Given the description of an element on the screen output the (x, y) to click on. 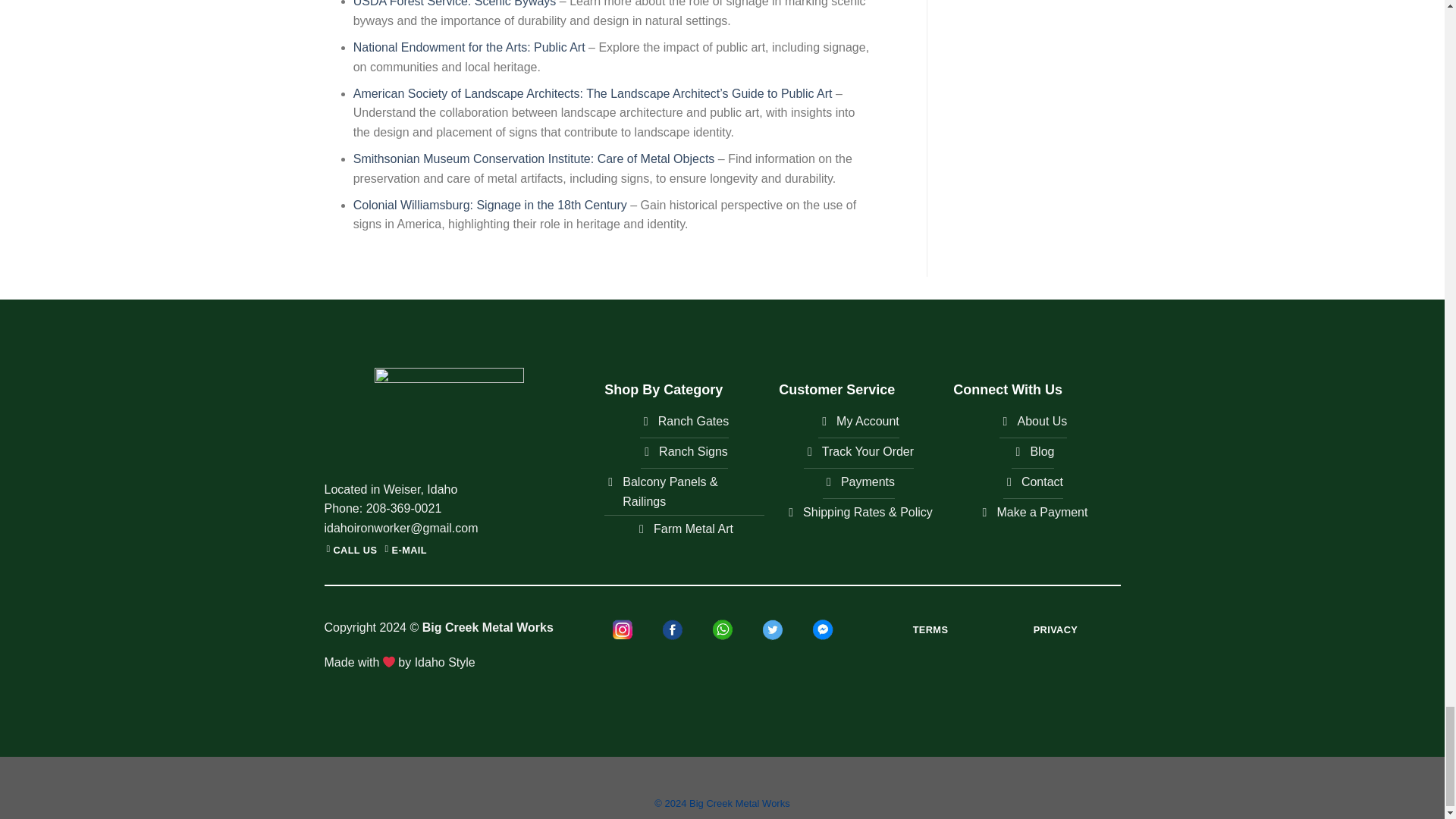
Eagle Idaho Web Design (445, 662)
